Given the description of an element on the screen output the (x, y) to click on. 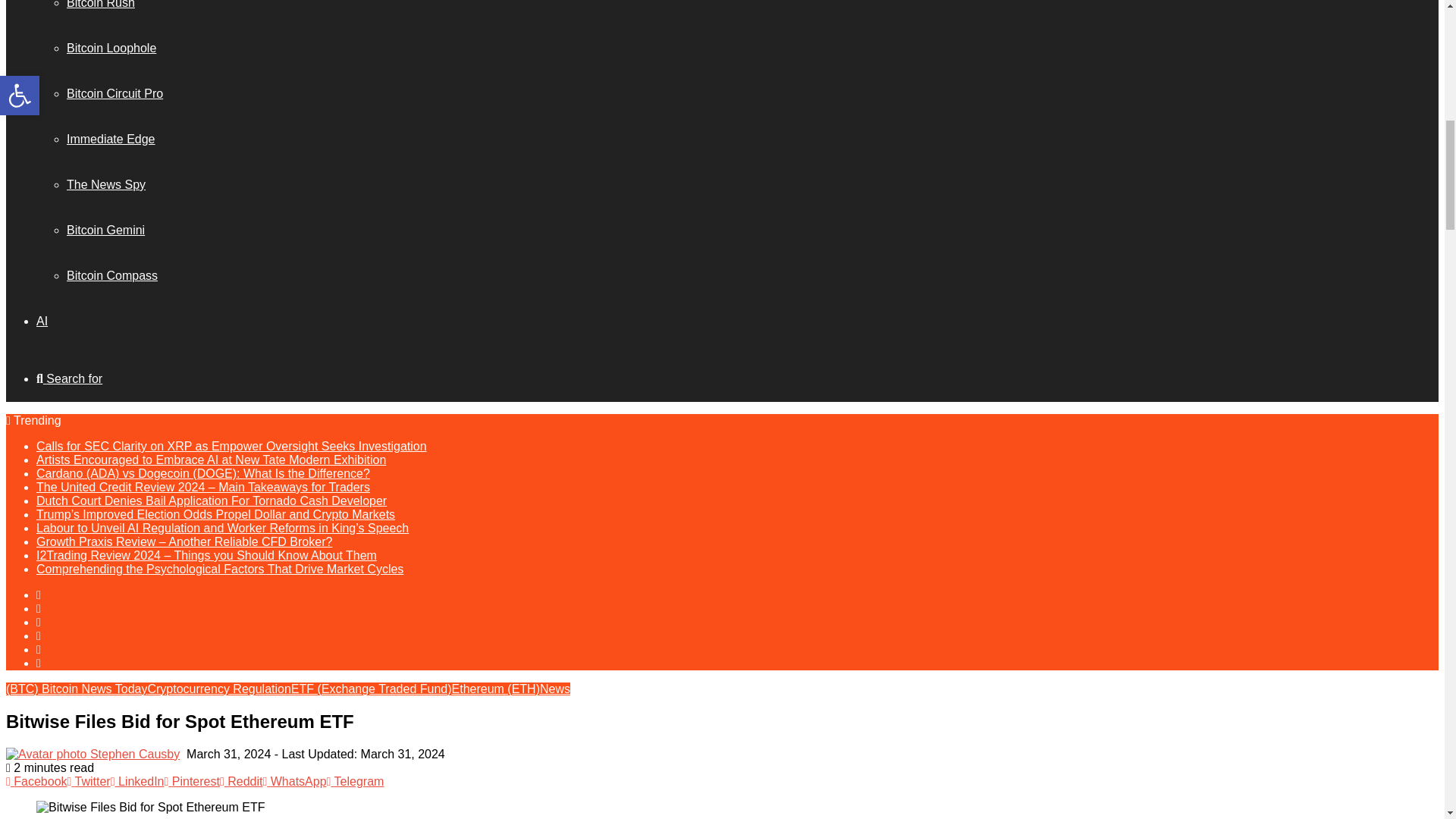
The News Spy (105, 184)
Immediate Edge (110, 138)
Bitcoin Circuit Pro (114, 92)
Bitcoin Gemini (105, 229)
Bitcoin Loophole (110, 47)
Bitcoin Compass (111, 275)
Search for (68, 378)
Bitcoin Rush (100, 4)
